Given the description of an element on the screen output the (x, y) to click on. 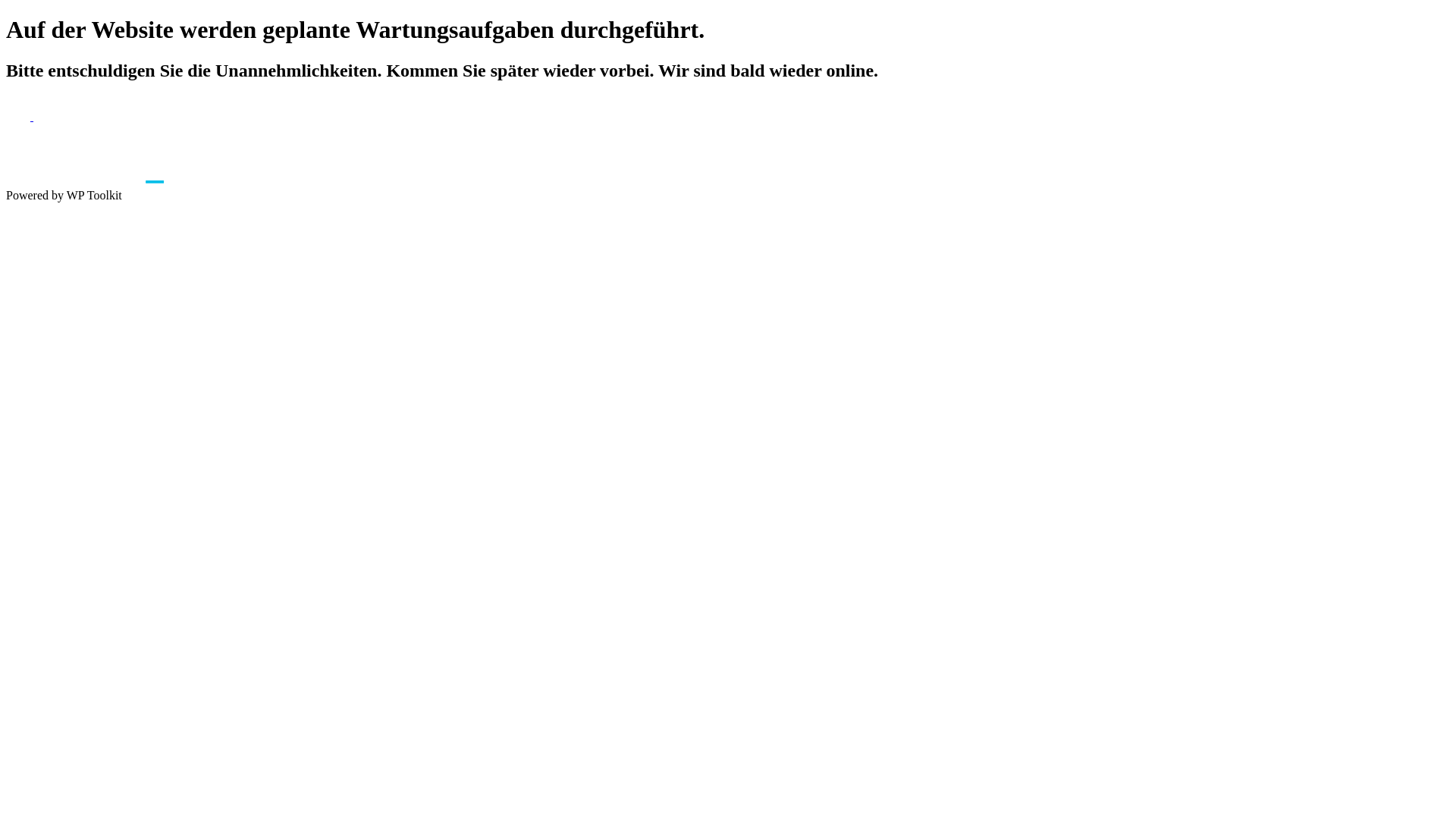
Facebook Element type: hover (19, 115)
Twitter Element type: hover (45, 115)
